Given the description of an element on the screen output the (x, y) to click on. 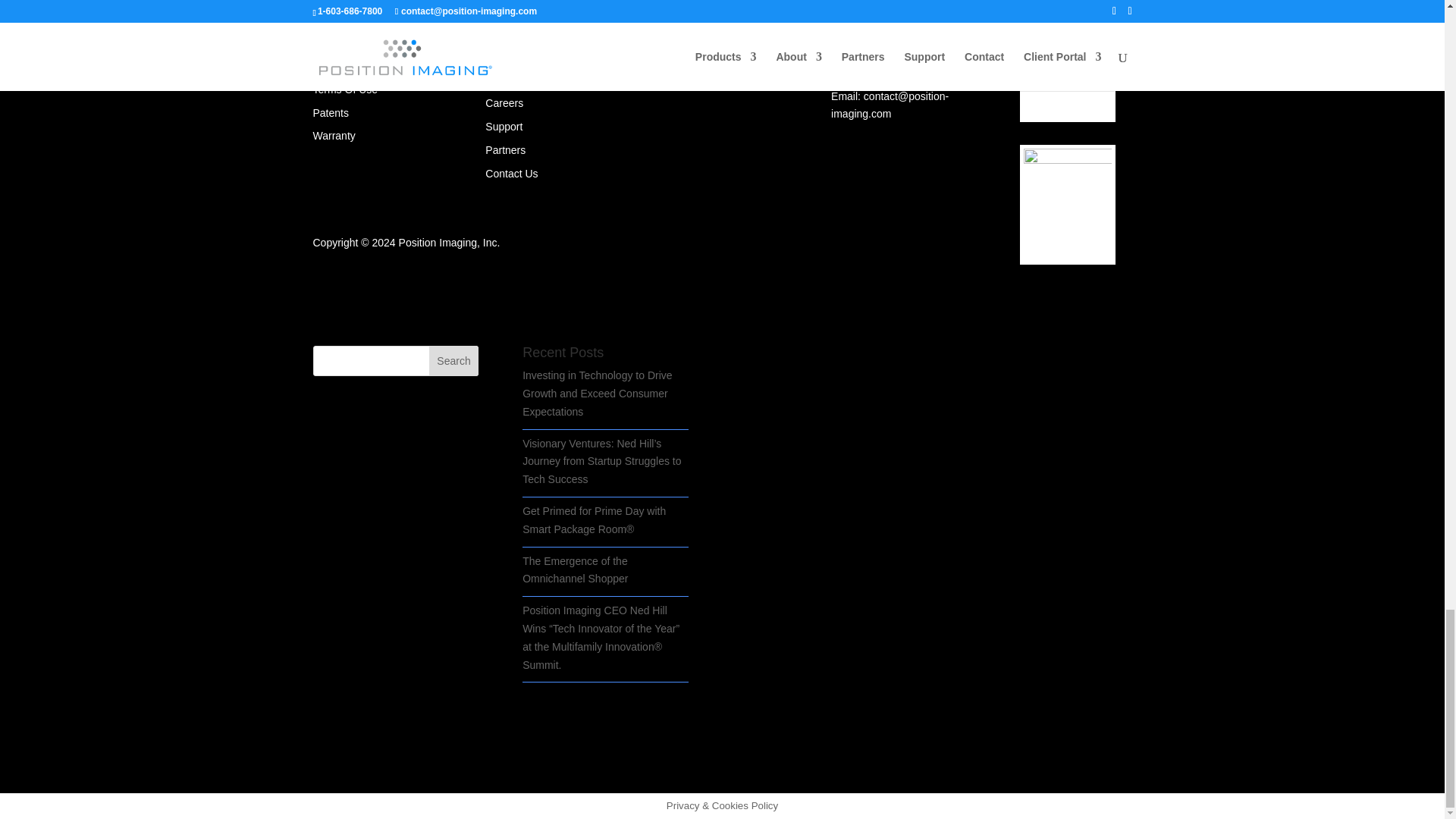
Follow on Facebook (354, 13)
Follow on Youtube (384, 13)
Search (454, 360)
Follow on LinkedIn (324, 13)
